Given the description of an element on the screen output the (x, y) to click on. 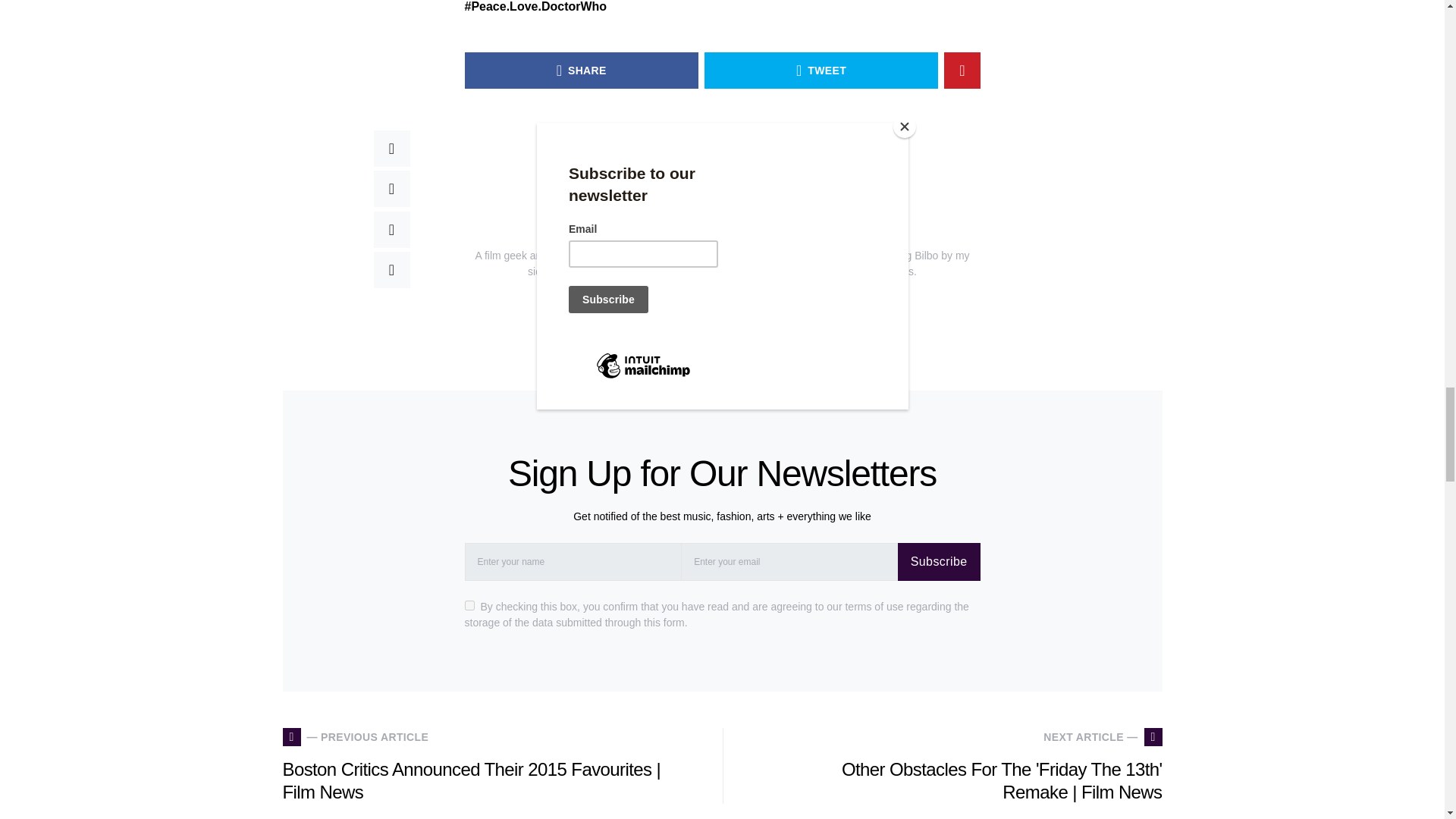
on (469, 605)
